Given the description of an element on the screen output the (x, y) to click on. 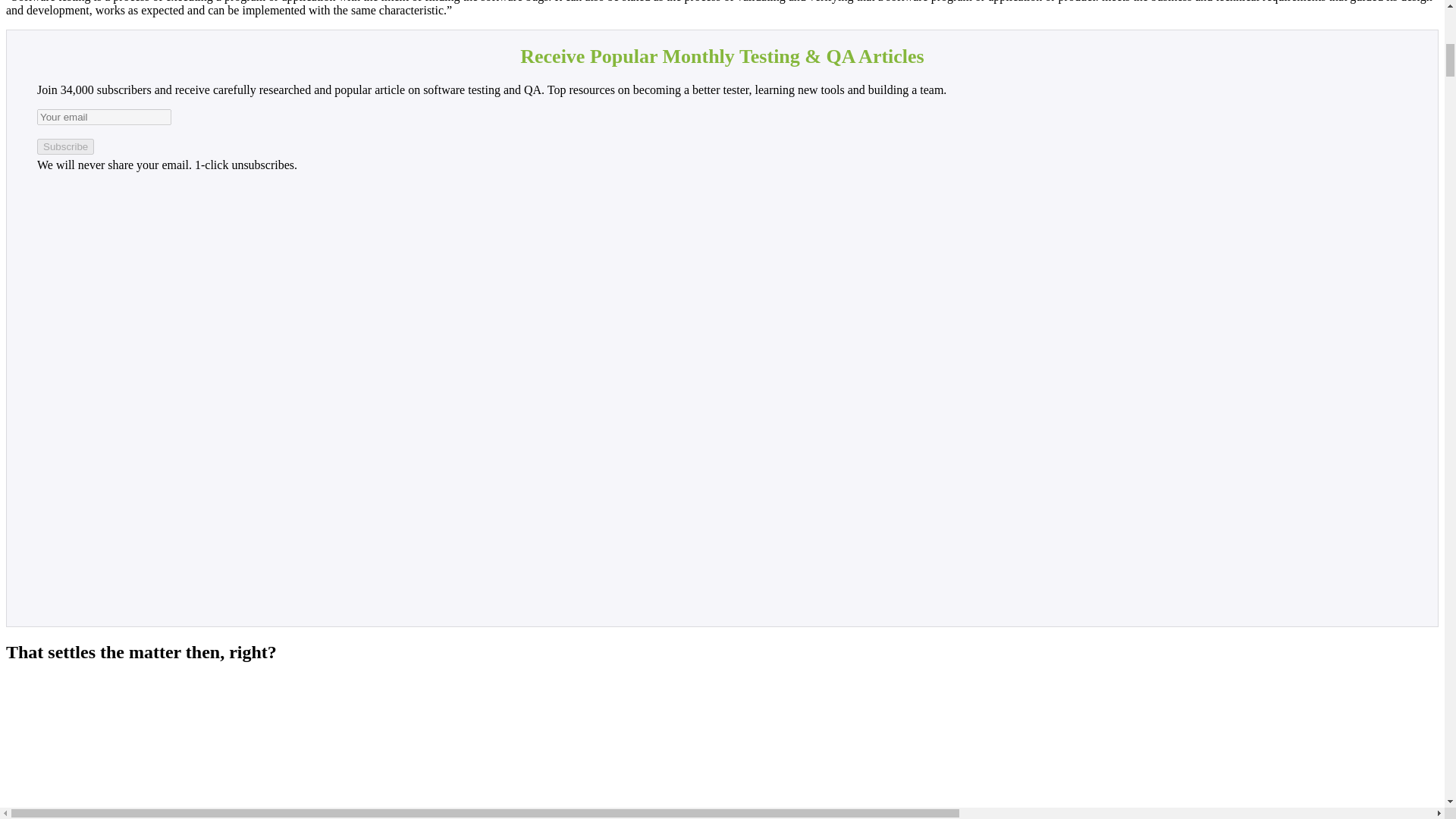
Subscribe (65, 146)
